Given the description of an element on the screen output the (x, y) to click on. 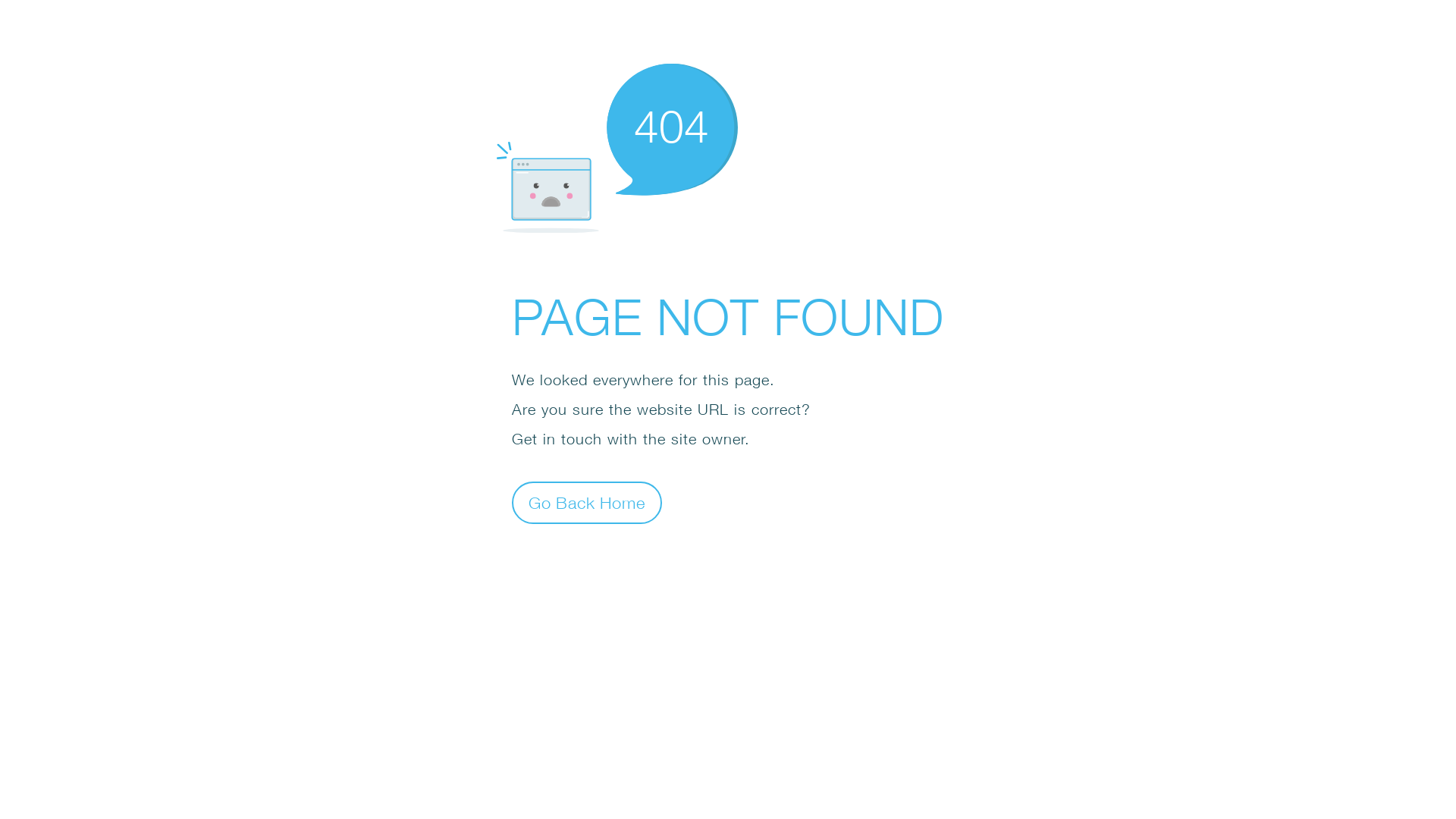
Go Back Home Element type: text (586, 502)
